Given the description of an element on the screen output the (x, y) to click on. 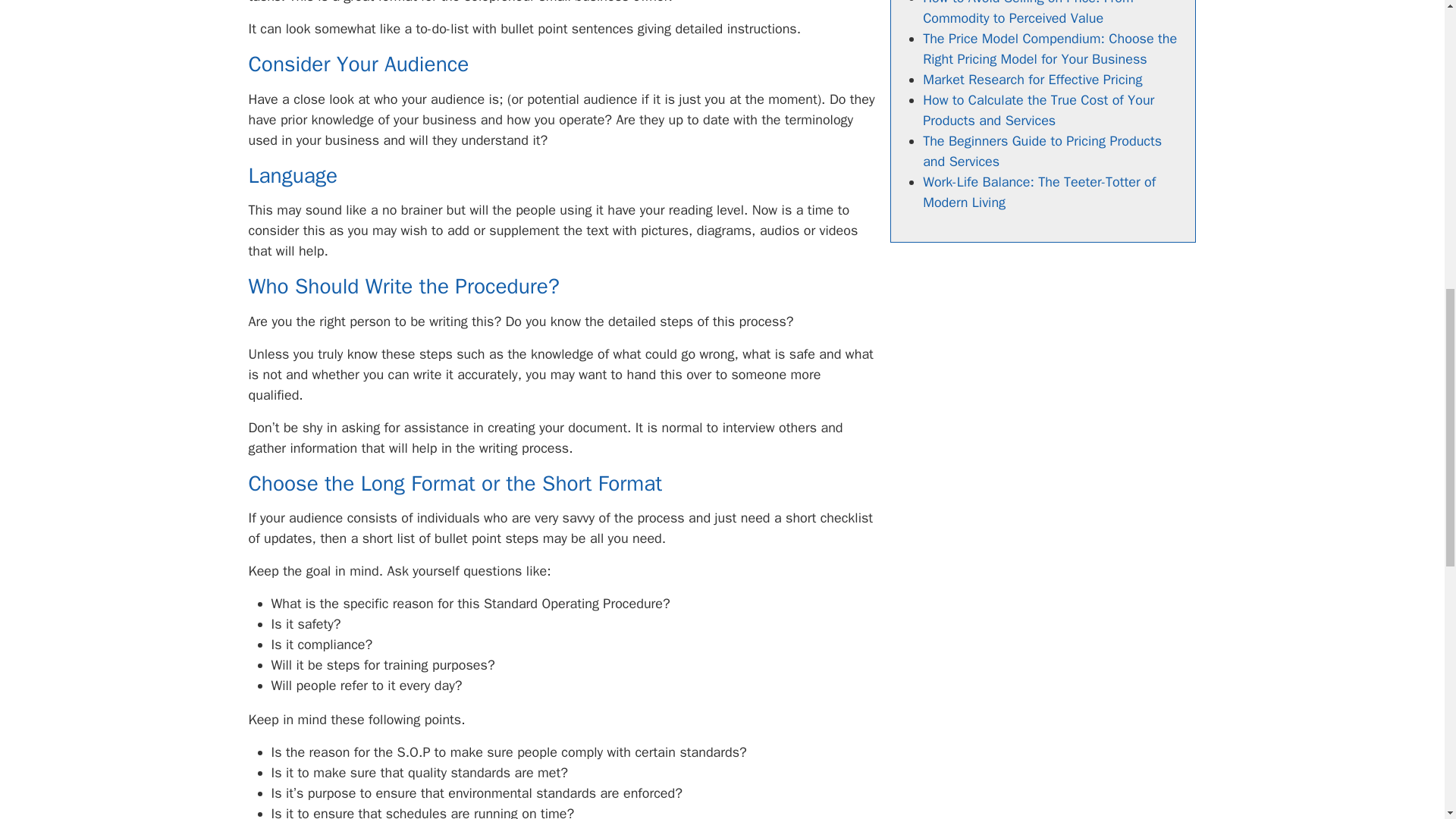
The Beginners Guide to Pricing Products and Services (1042, 150)
Market Research for Effective Pricing (1032, 79)
How to Calculate the True Cost of Your Products and Services (1038, 109)
Work-Life Balance: The Teeter-Totter of Modern Living (1039, 191)
